Given the description of an element on the screen output the (x, y) to click on. 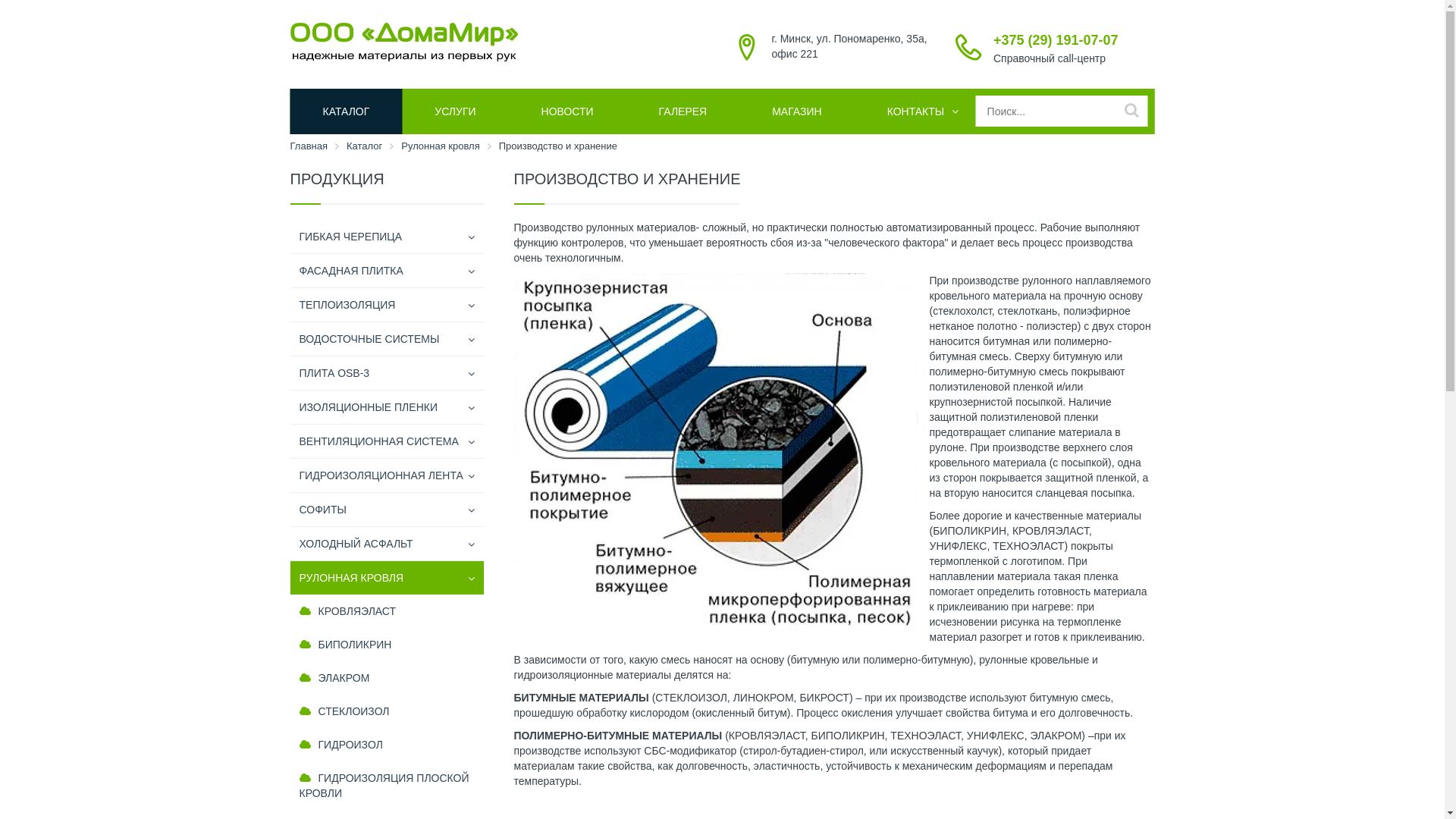
+375 (29) 191-07-07 Element type: text (1055, 39)
